Given the description of an element on the screen output the (x, y) to click on. 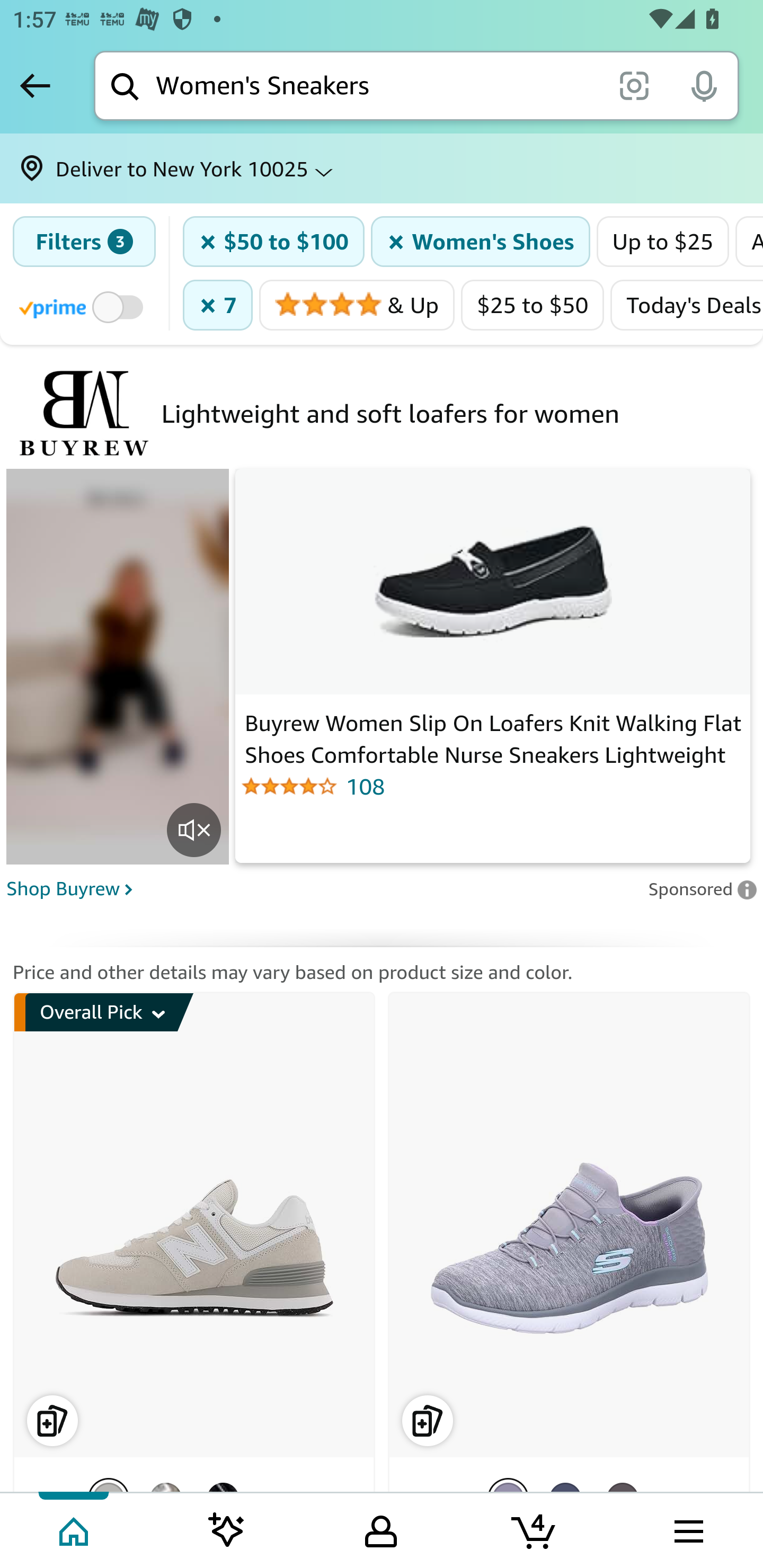
Back (35, 85)
scan it (633, 85)
Deliver to New York 10025 ⌵ (381, 168)
Filters 3 (83, 241)
× $50 to $100 × $50 to $100 (274, 241)
× Women's Shoes × Women's Shoes (480, 241)
Up to $25 (662, 241)
Toggle to filter by Prime products Prime Eligible (83, 306)
× 7 × 7 (217, 304)
4 Stars & Up (356, 304)
$25 to $50 (532, 304)
Today's Deals (686, 304)
Lightweight and soft loafers for women (389, 412)
108 (492, 785)
Mute Sponsored Video (193, 829)
Shop Buyrew  Shop  Buyrew  (321, 886)
Leave feedback on Sponsored ad (701, 888)
+108 (281, 1500)
Home Tab 1 of 5 (75, 1529)
Inspire feed Tab 2 of 5 (227, 1529)
Your Amazon.com Tab 3 of 5 (380, 1529)
Cart 4 items Tab 4 of 5 4 (534, 1529)
Browse menu Tab 5 of 5 (687, 1529)
